Given the description of an element on the screen output the (x, y) to click on. 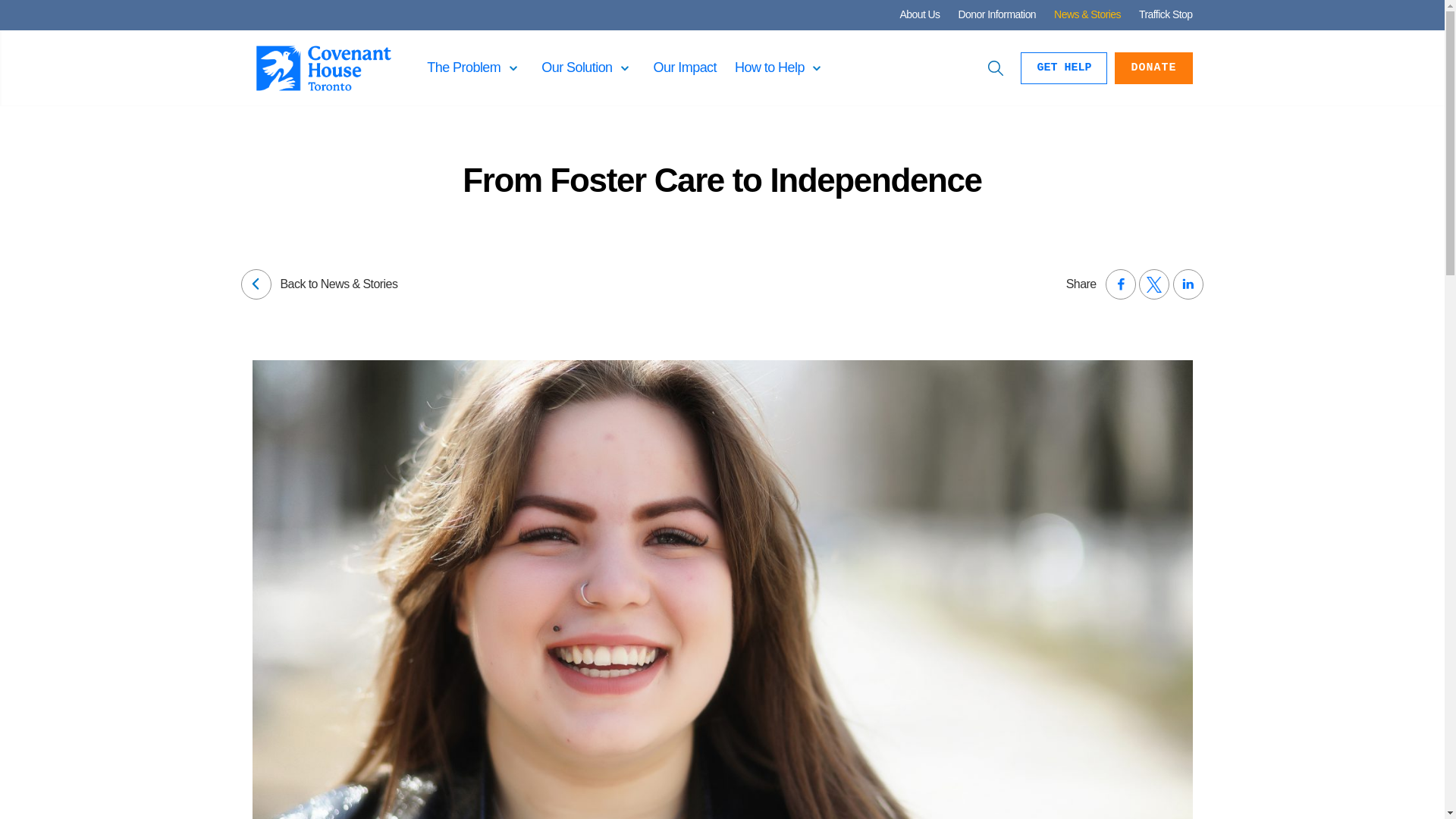
The Problem (463, 67)
Donor Information (997, 14)
About Us (919, 14)
Our Impact (684, 67)
Our Solution (576, 67)
How to Help (770, 67)
Traffick Stop (1165, 14)
